Given the description of an element on the screen output the (x, y) to click on. 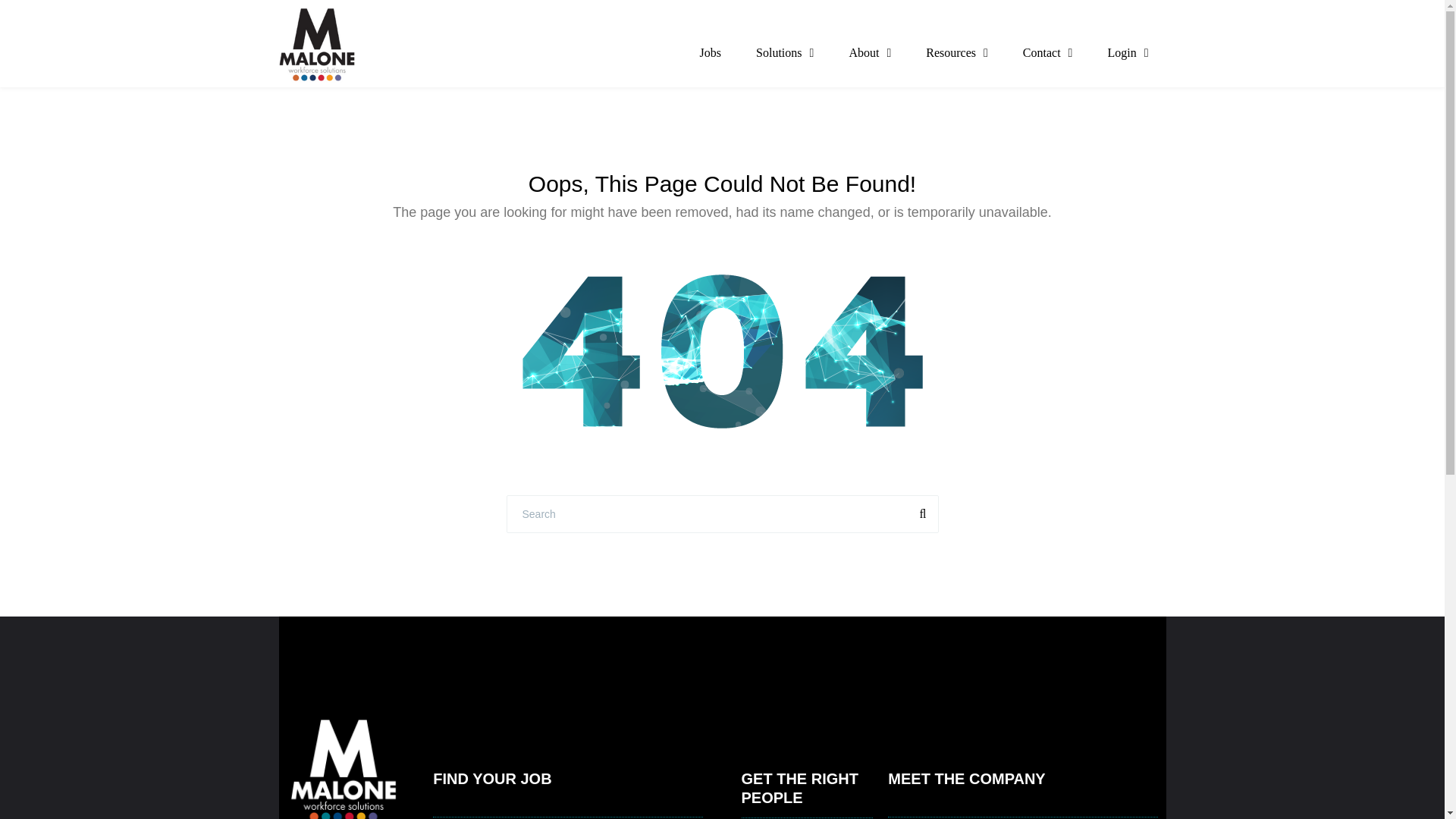
About (869, 52)
Login (1127, 52)
Contact (1048, 52)
Solutions (784, 52)
Resources (957, 52)
